Given the description of an element on the screen output the (x, y) to click on. 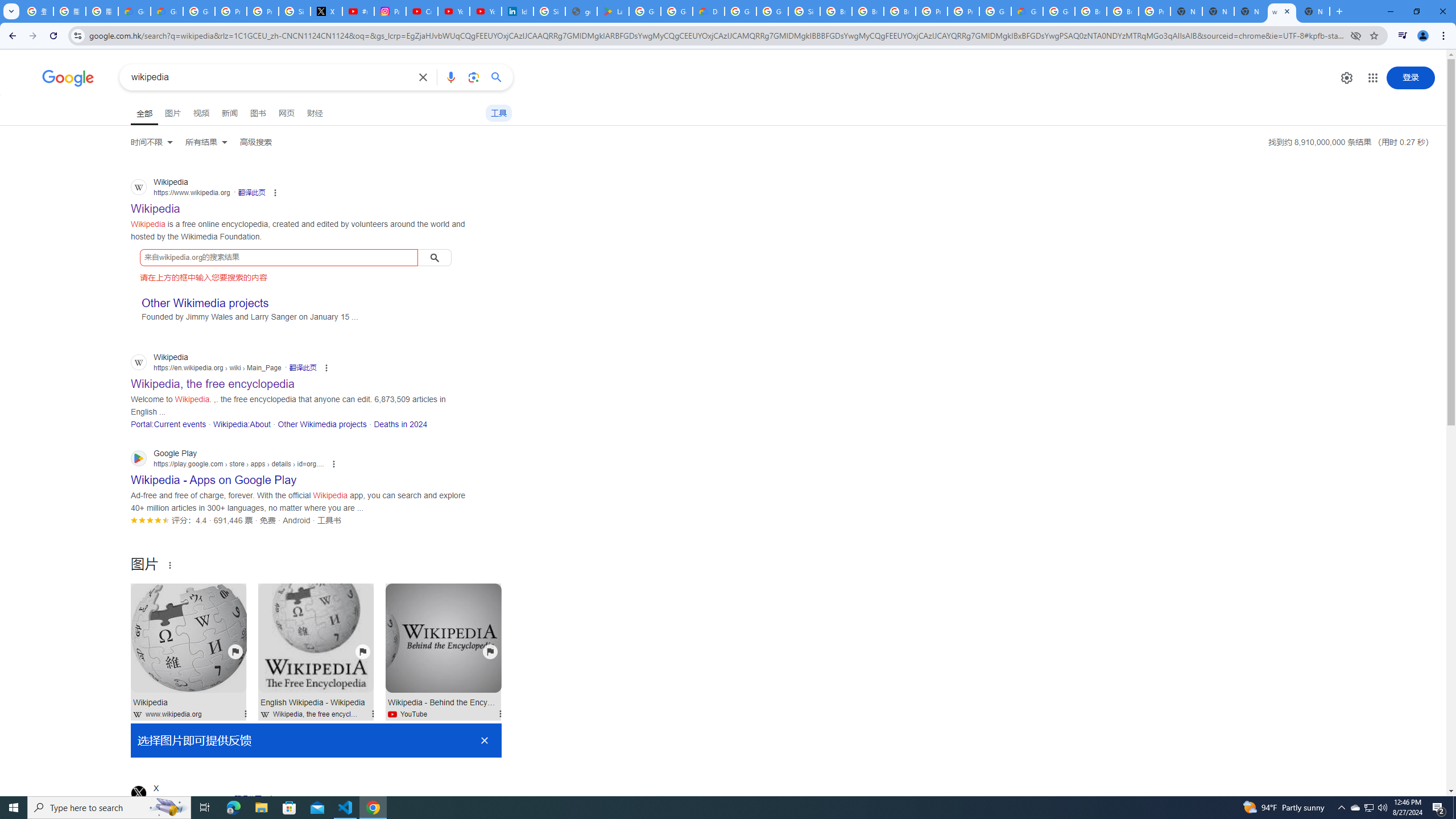
Sign in - Google Accounts (804, 11)
Privacy Help Center - Policies Help (262, 11)
Wikipedia:About (241, 424)
YouTube Culture & Trends - YouTube Top 10, 2021 (485, 11)
